Given the description of an element on the screen output the (x, y) to click on. 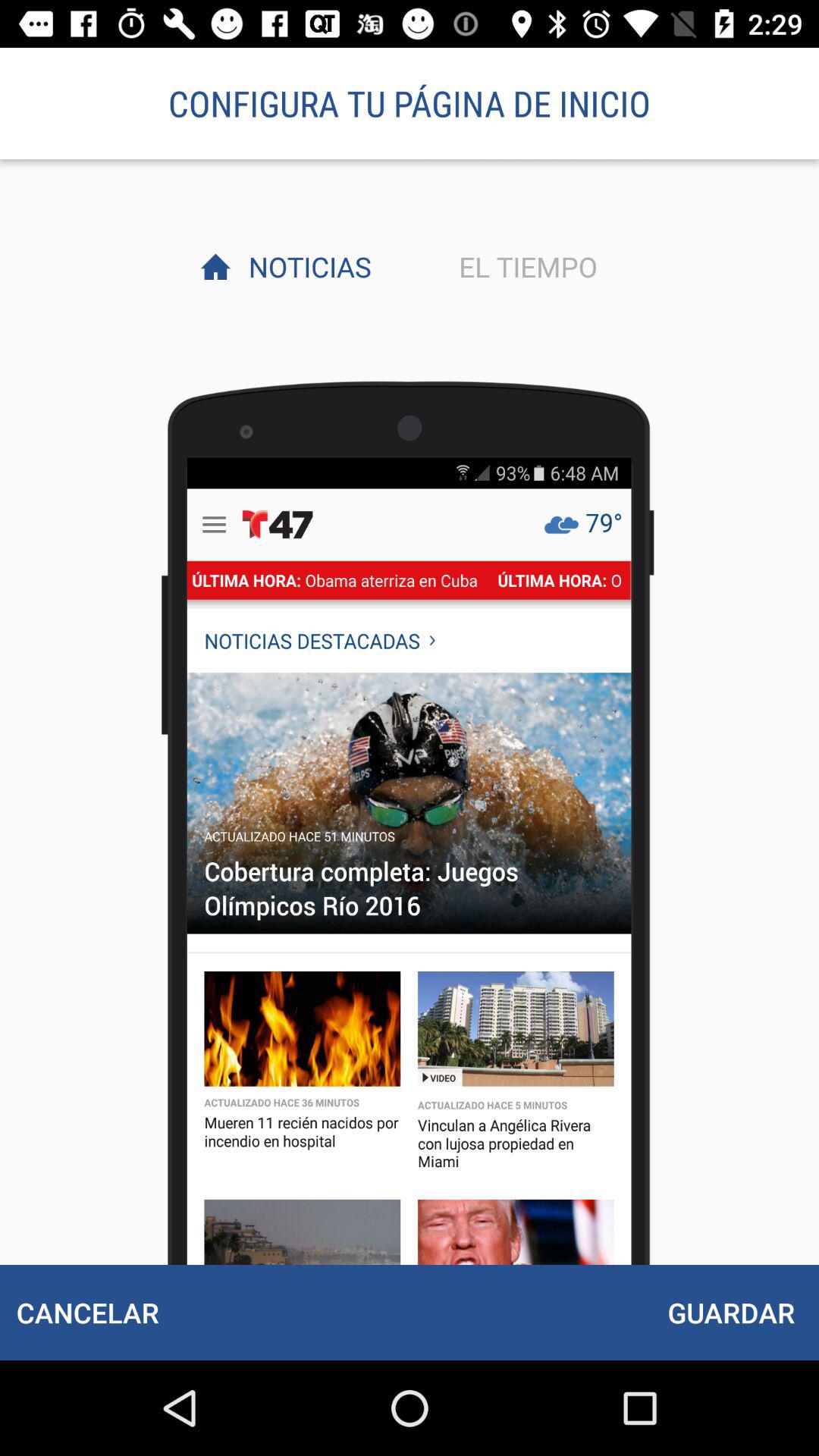
scroll to cancelar item (87, 1312)
